Given the description of an element on the screen output the (x, y) to click on. 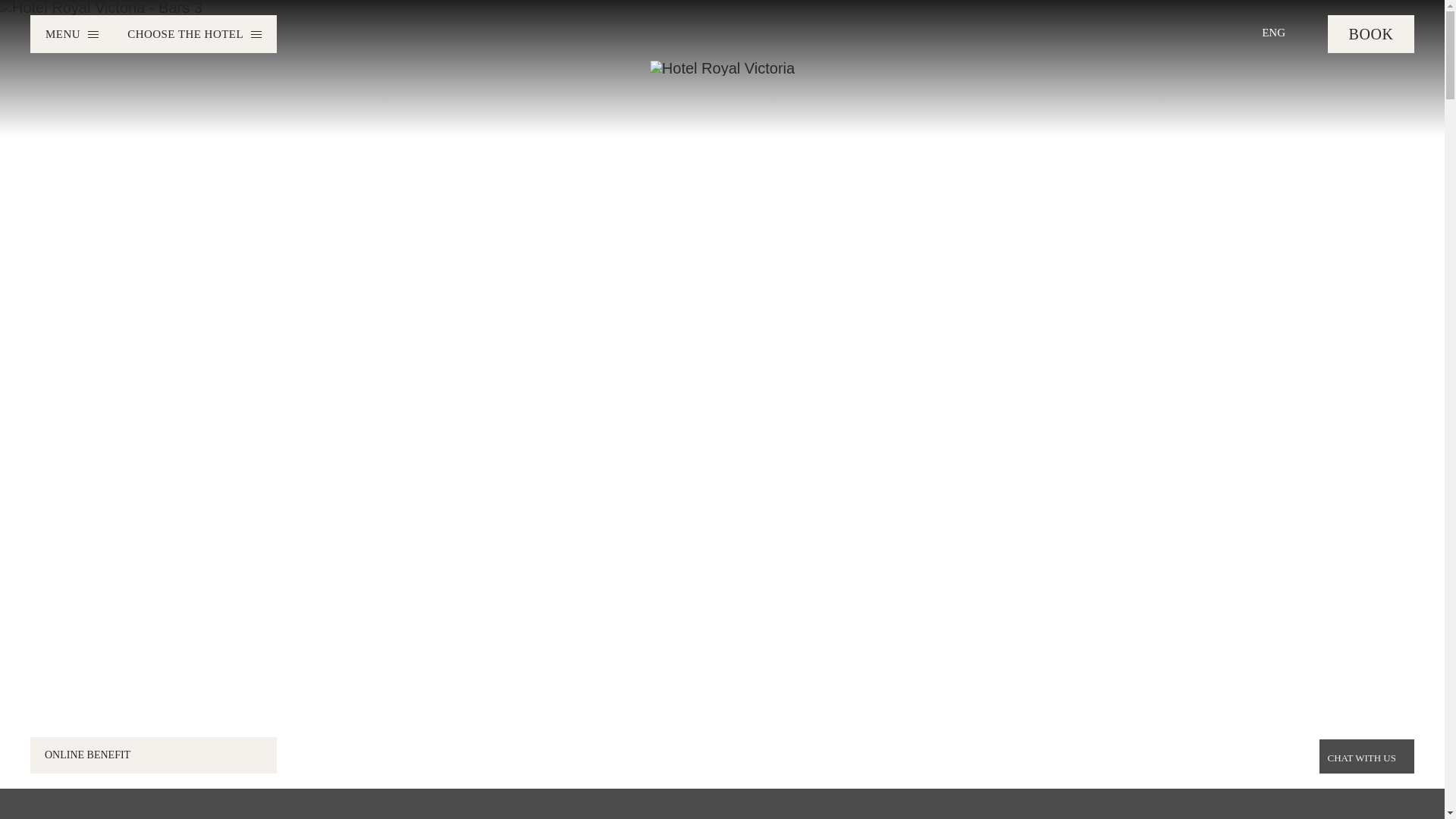
Hotel Royal Victoria - Bars 3 (101, 7)
Hotel Royal Victoria (721, 68)
